Given the description of an element on the screen output the (x, y) to click on. 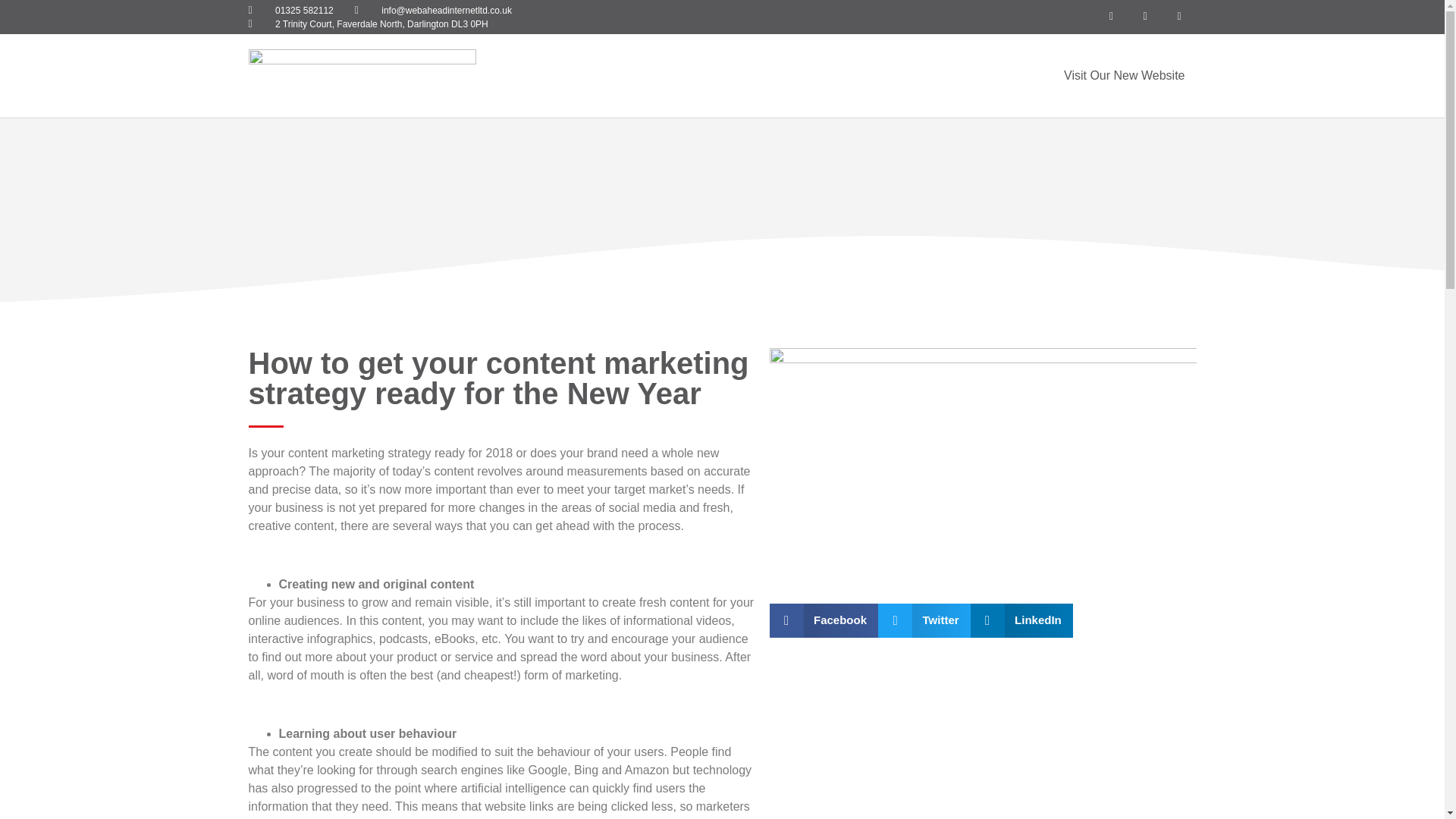
01325 582112 (290, 9)
Visit Our New Website (1123, 75)
